Given the description of an element on the screen output the (x, y) to click on. 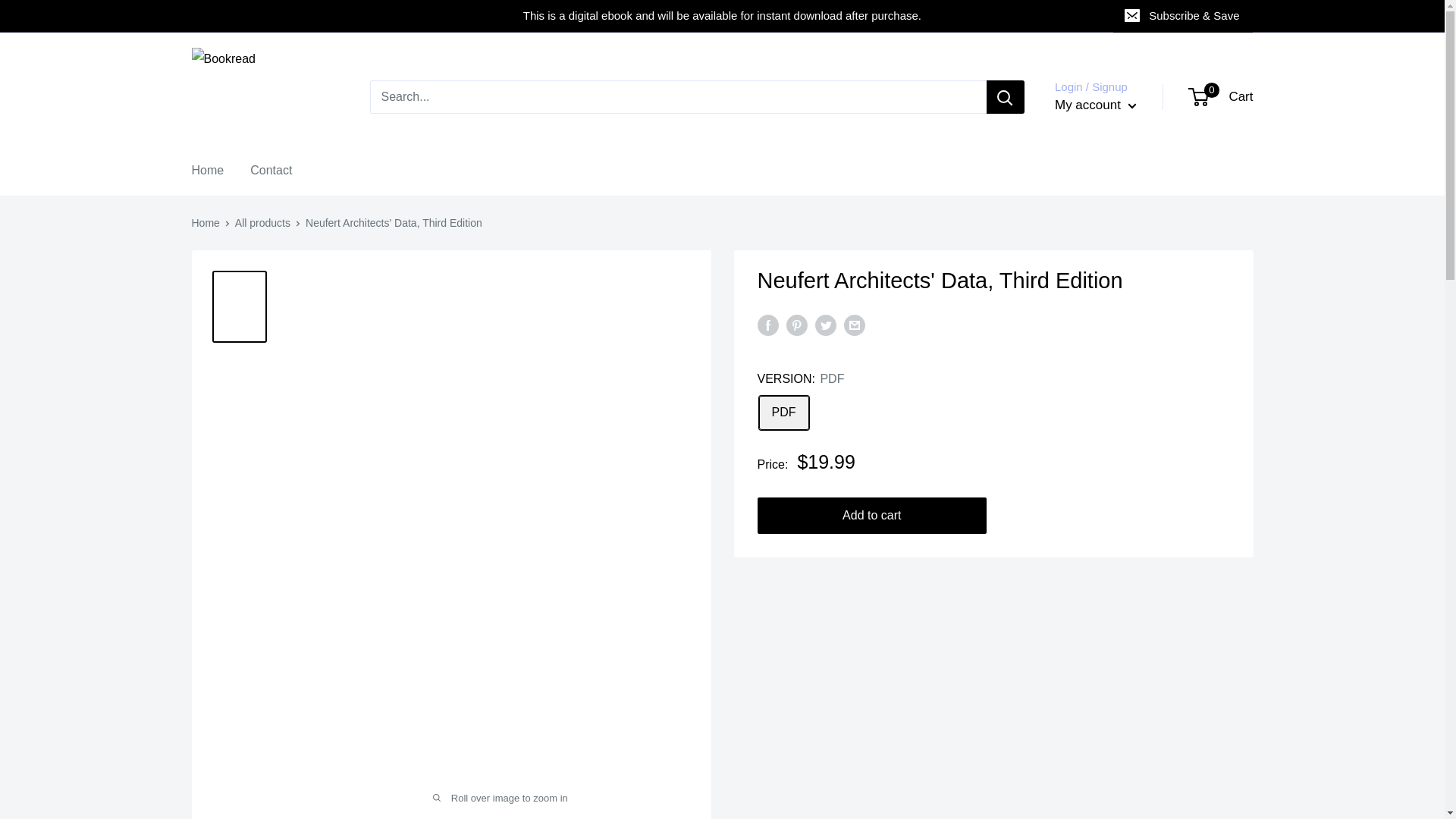
All products (261, 223)
PDF (783, 412)
Contact (271, 169)
My account (1095, 105)
Home (1221, 96)
Home (204, 223)
